Given the description of an element on the screen output the (x, y) to click on. 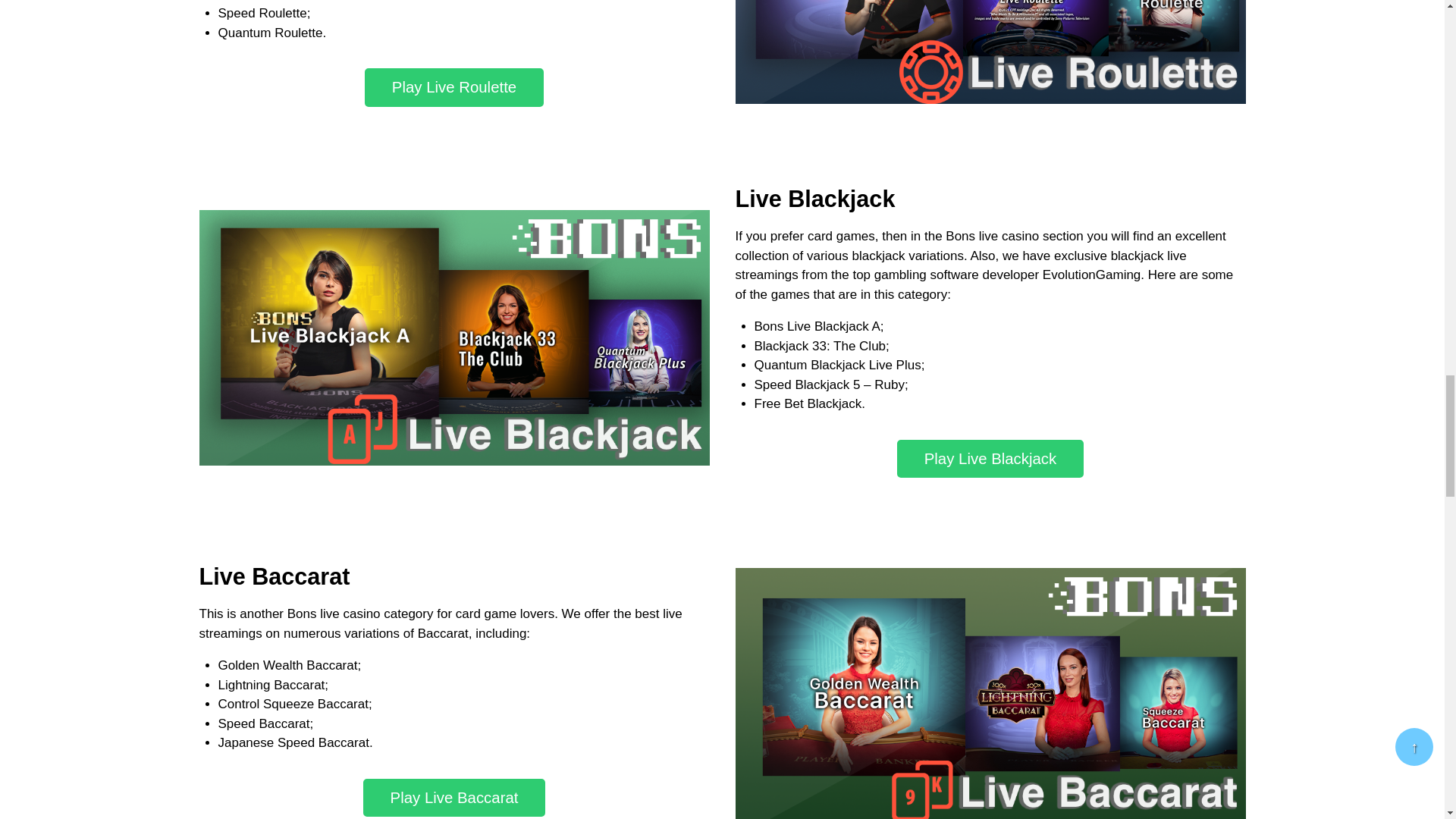
Play Live Baccarat (454, 797)
Play Live Blackjack (990, 458)
Play Live Roulette (454, 87)
